Given the description of an element on the screen output the (x, y) to click on. 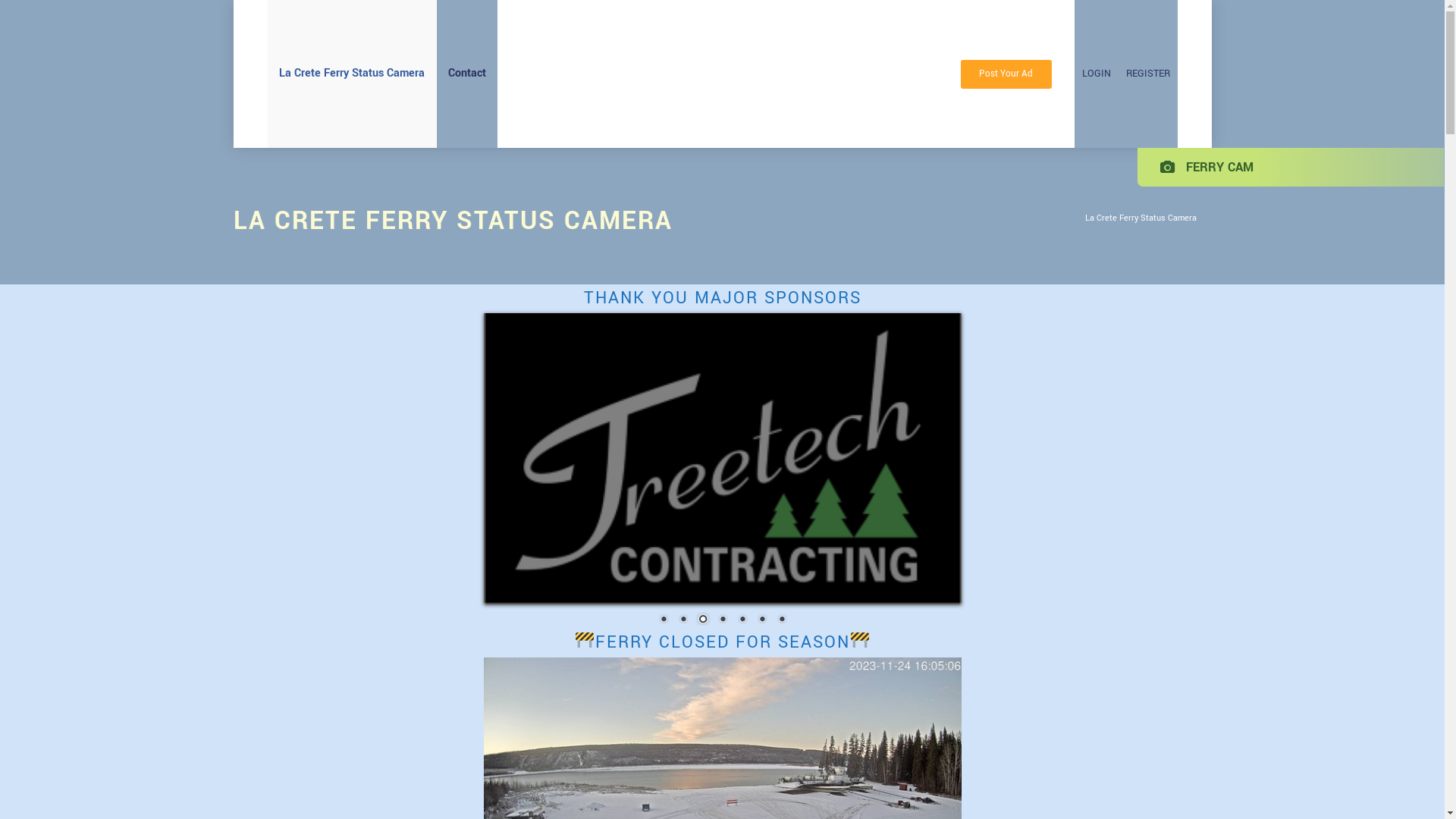
4 Element type: text (722, 619)
1 Element type: text (663, 619)
Post Your Ad Element type: text (1005, 73)
2 Element type: text (682, 619)
3 Element type: text (702, 619)
FERRY CAM Element type: text (1206, 166)
5 Element type: text (742, 619)
6 Element type: text (761, 619)
7 Element type: text (781, 619)
